Given the description of an element on the screen output the (x, y) to click on. 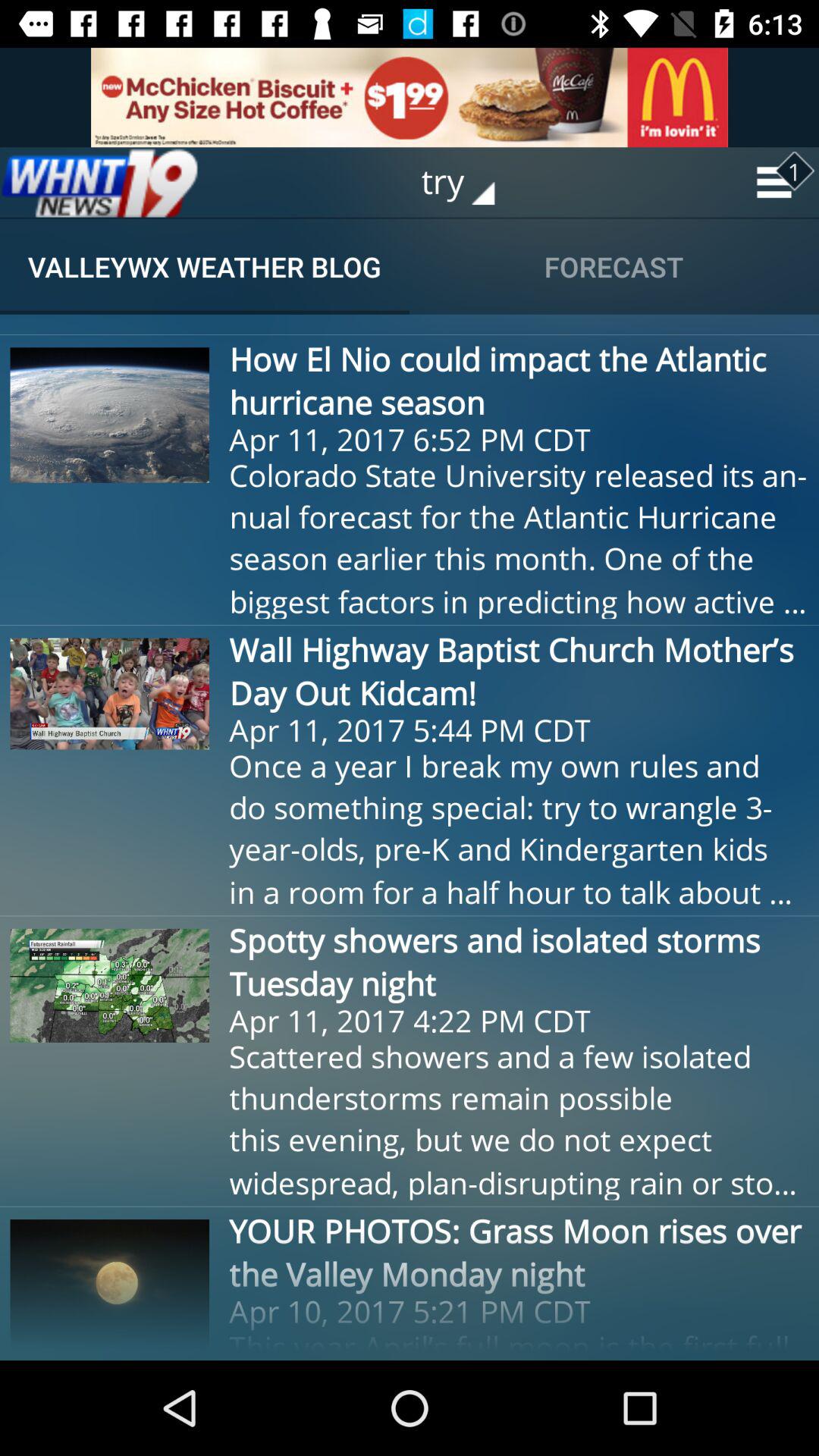
goes back to home/first page (99, 182)
